Given the description of an element on the screen output the (x, y) to click on. 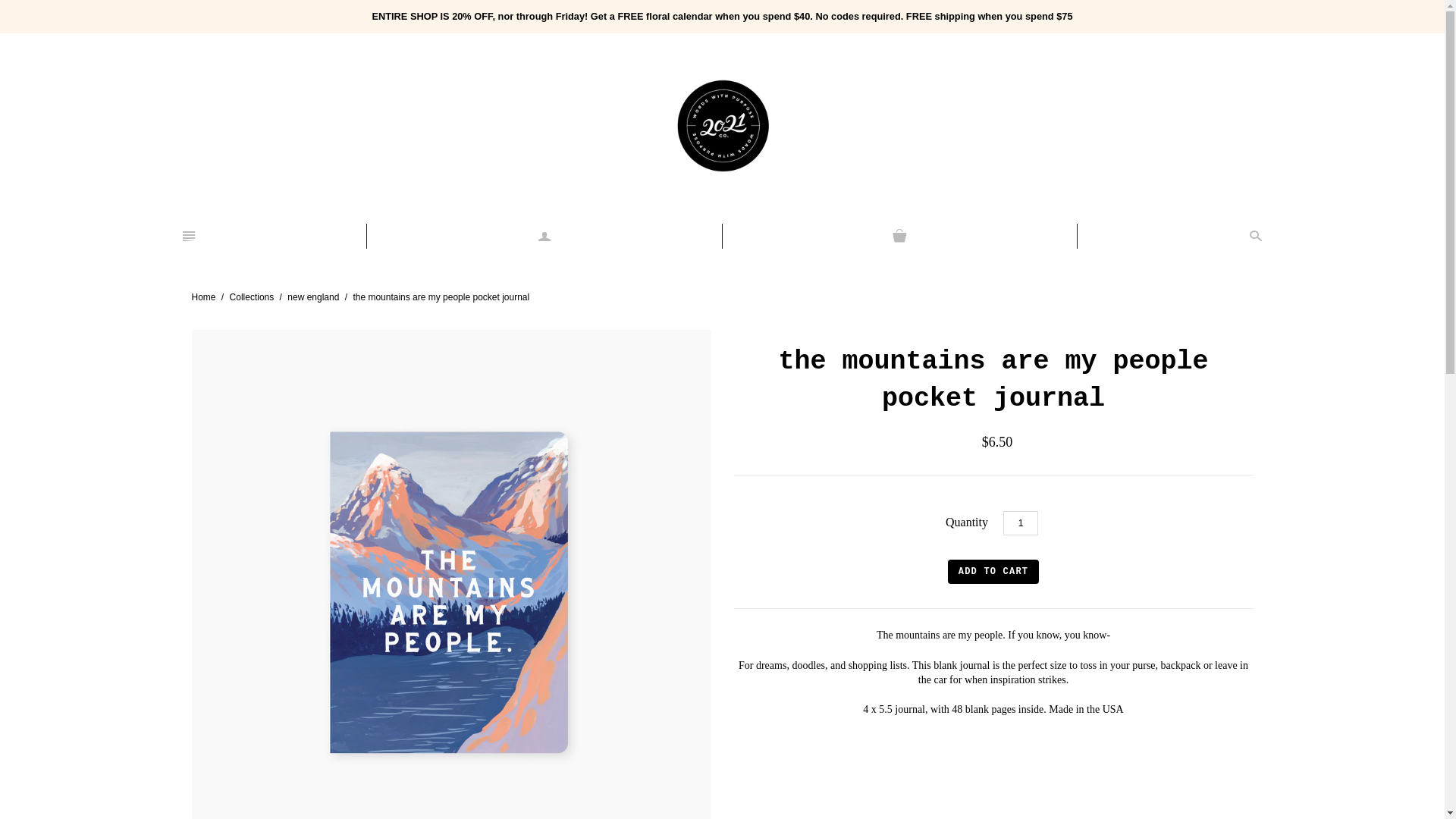
Collections Element type: text (251, 296)
new england Element type: text (312, 296)
a Element type: text (544, 236)
Home Element type: text (203, 296)
Add to cart Element type: text (992, 571)
